Given the description of an element on the screen output the (x, y) to click on. 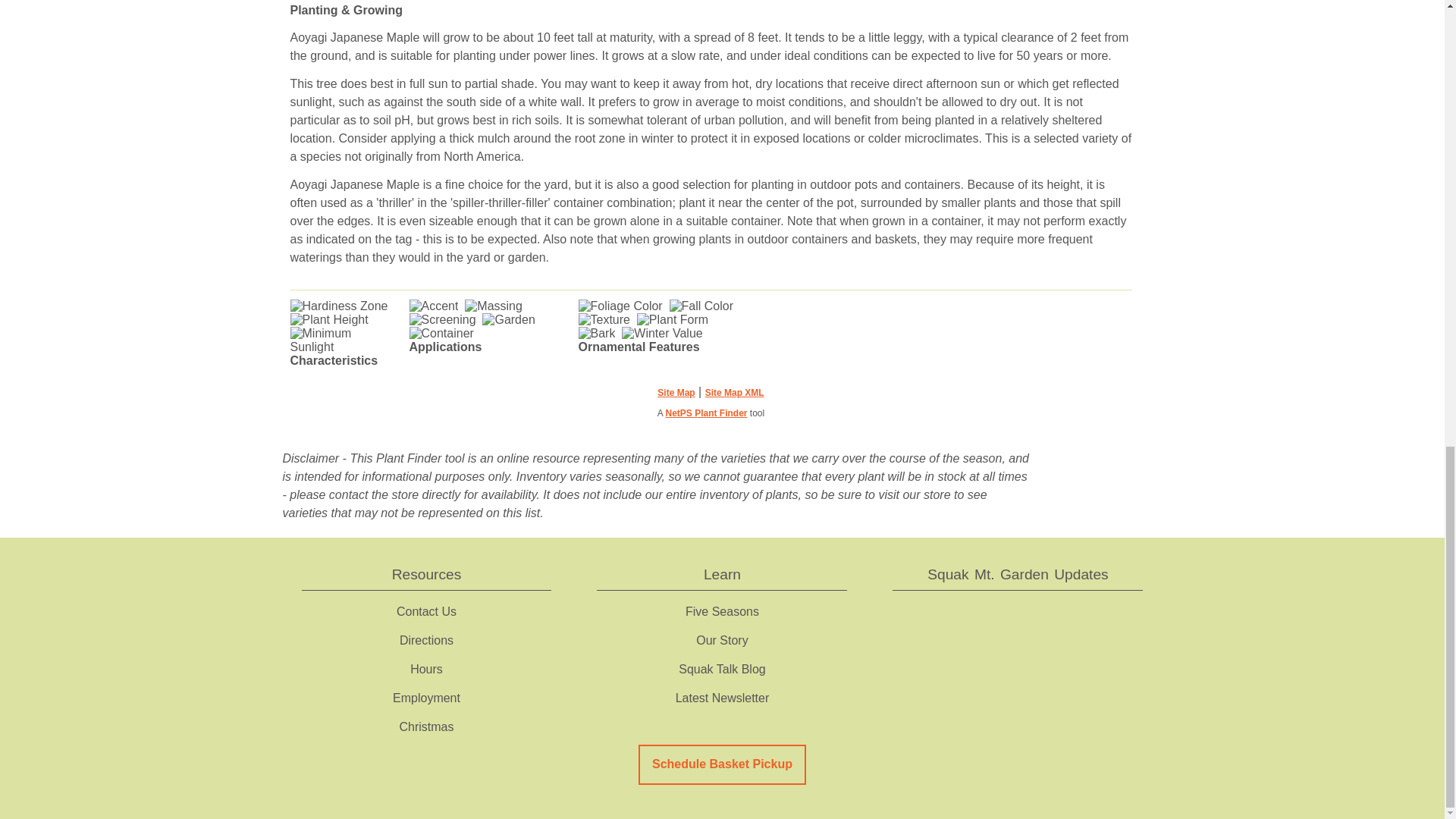
Plant Height (328, 319)
Hardiness Zone (338, 305)
Massing (493, 305)
Minimum Sunlight (343, 339)
Accent (433, 305)
